Given the description of an element on the screen output the (x, y) to click on. 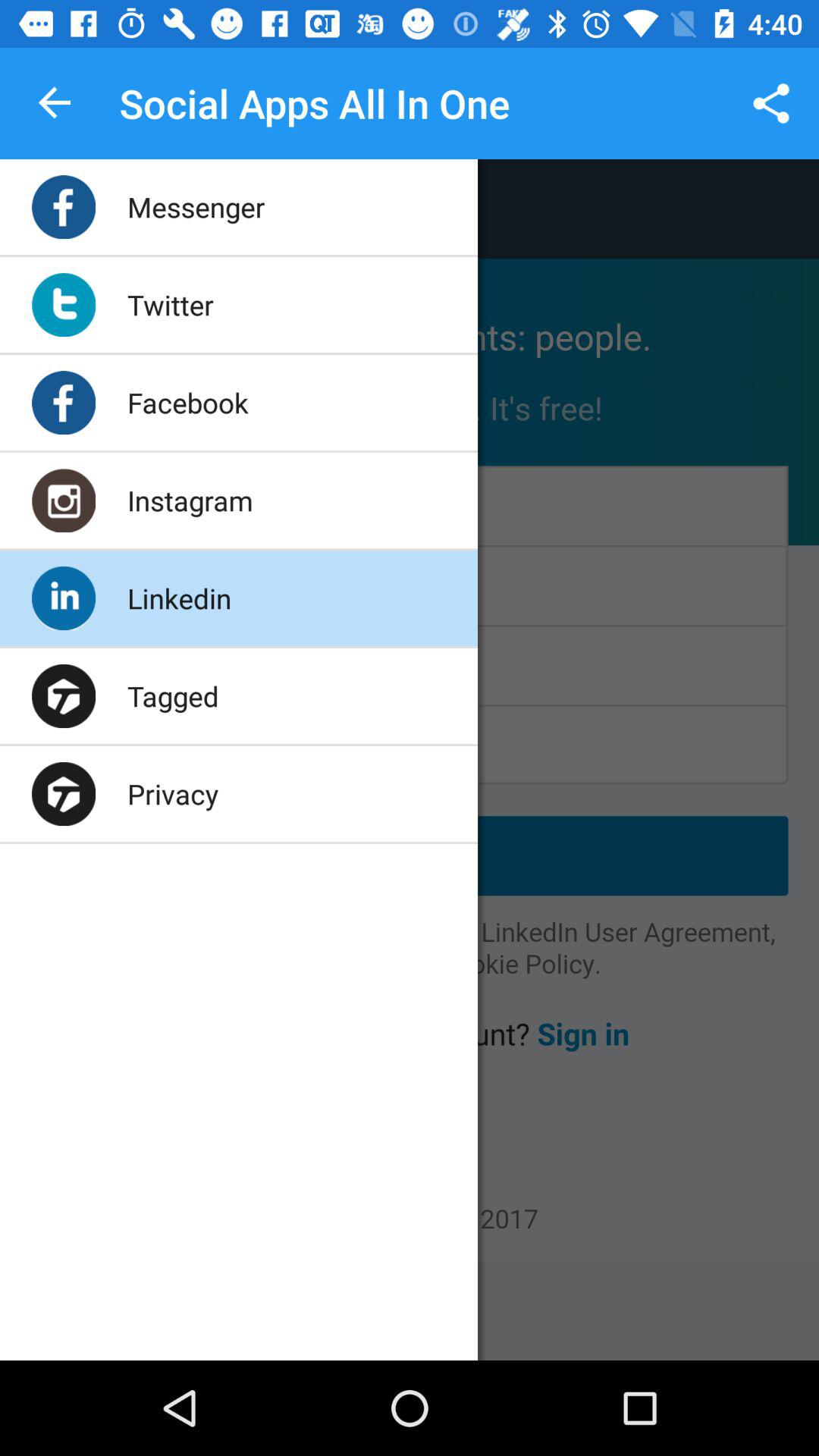
tap app next to the social apps all app (55, 103)
